Given the description of an element on the screen output the (x, y) to click on. 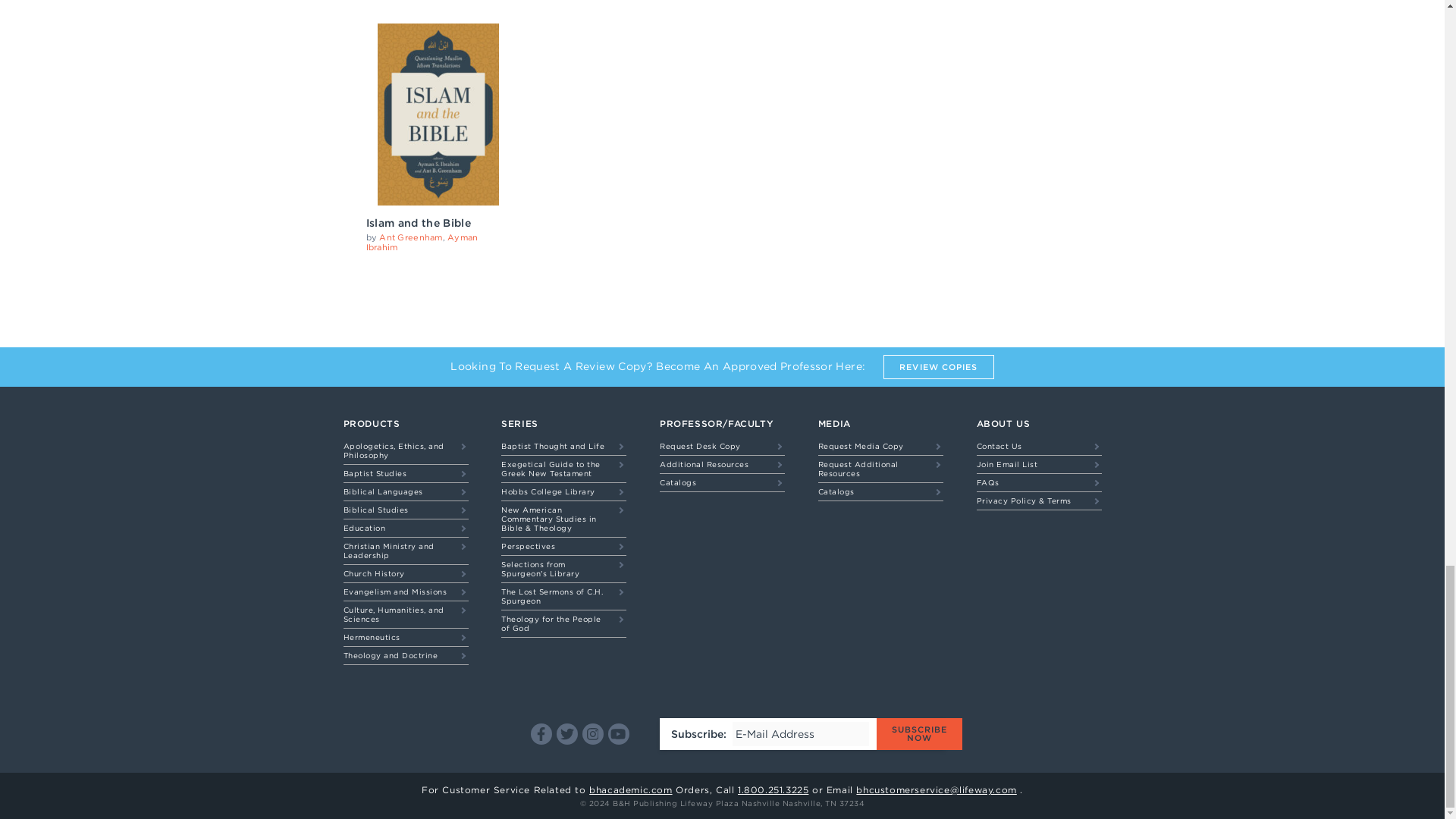
Ant Greenham (410, 236)
Islam and the Bible (417, 223)
